Given the description of an element on the screen output the (x, y) to click on. 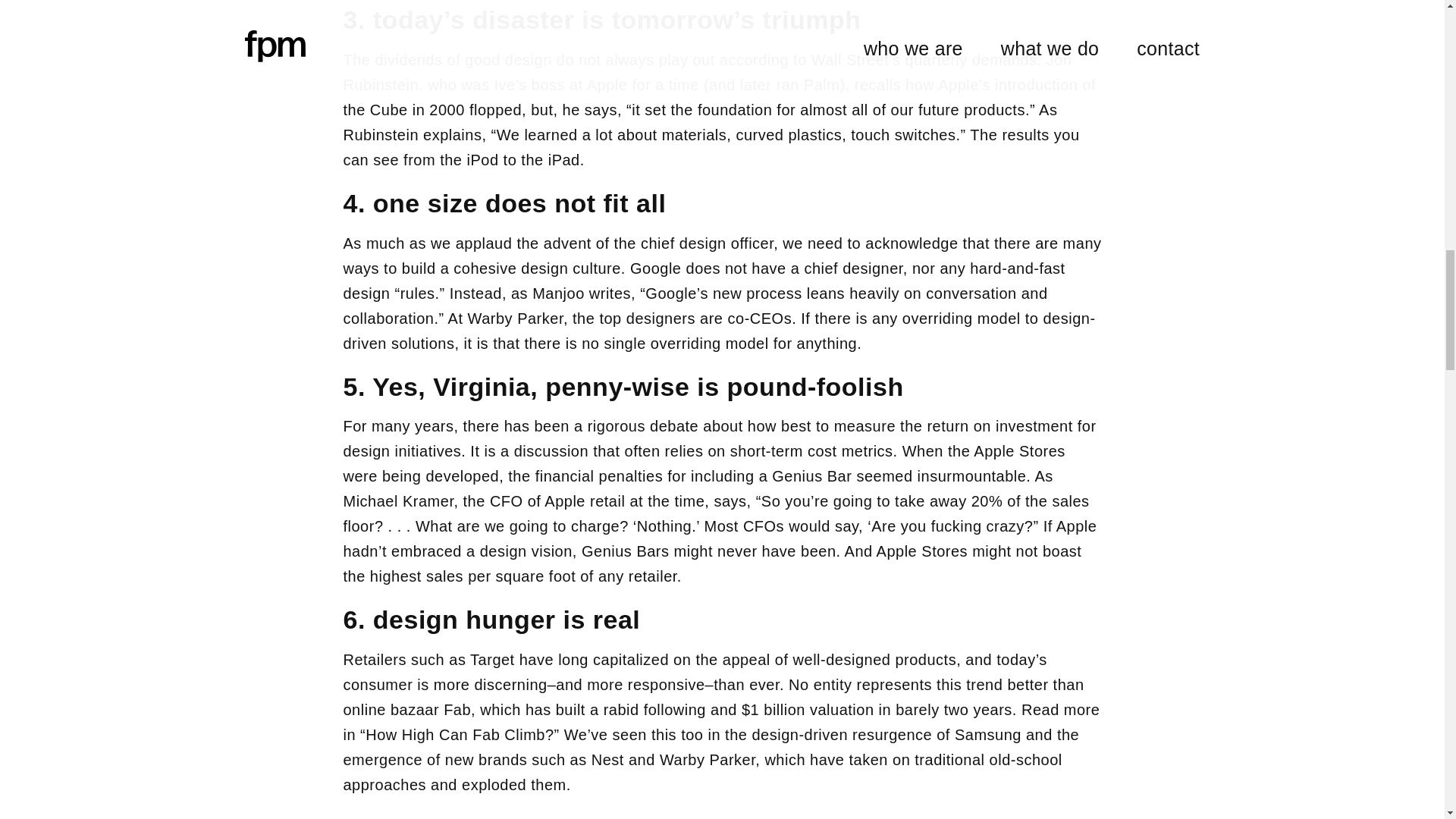
Apple Stores (1019, 451)
Jon Rubinstein (706, 72)
